Given the description of an element on the screen output the (x, y) to click on. 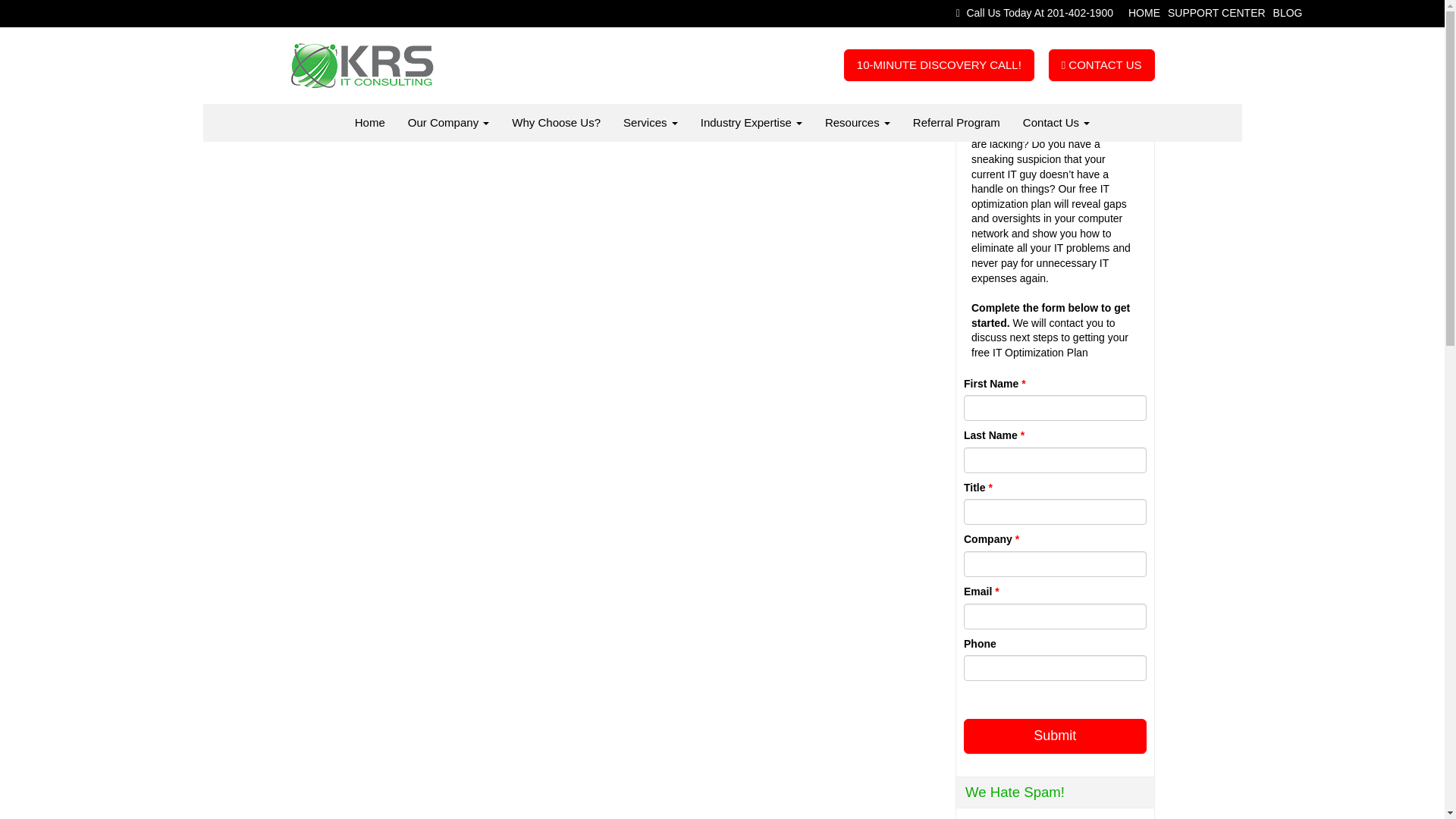
CONTACT US (1101, 65)
Industry Expertise (751, 122)
Home (370, 122)
Our Company (448, 122)
10-MINUTE DISCOVERY CALL! (938, 65)
BLOG (1287, 12)
Why Choose Us? (555, 122)
HOME (1144, 12)
SUPPORT CENTER (1216, 12)
Services (650, 122)
